Given the description of an element on the screen output the (x, y) to click on. 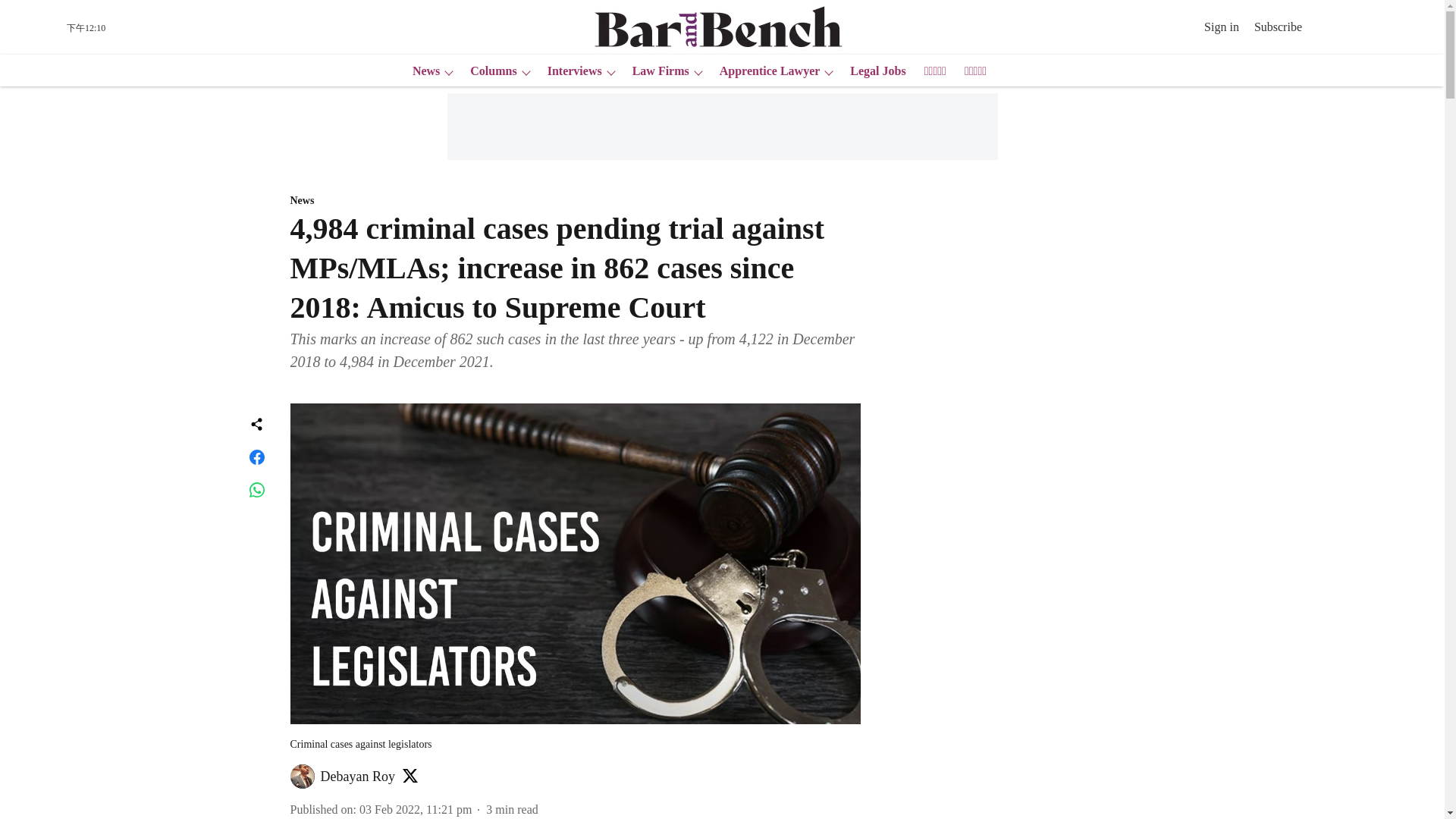
Interviews (570, 71)
News (574, 201)
Columns (488, 71)
3rd party ad content (721, 126)
Debayan Roy (357, 776)
News (421, 71)
Apprentice Lawyer (765, 71)
Legal Jobs (873, 71)
Law Firms (655, 71)
2022-02-03 15:21 (415, 809)
